Given the description of an element on the screen output the (x, y) to click on. 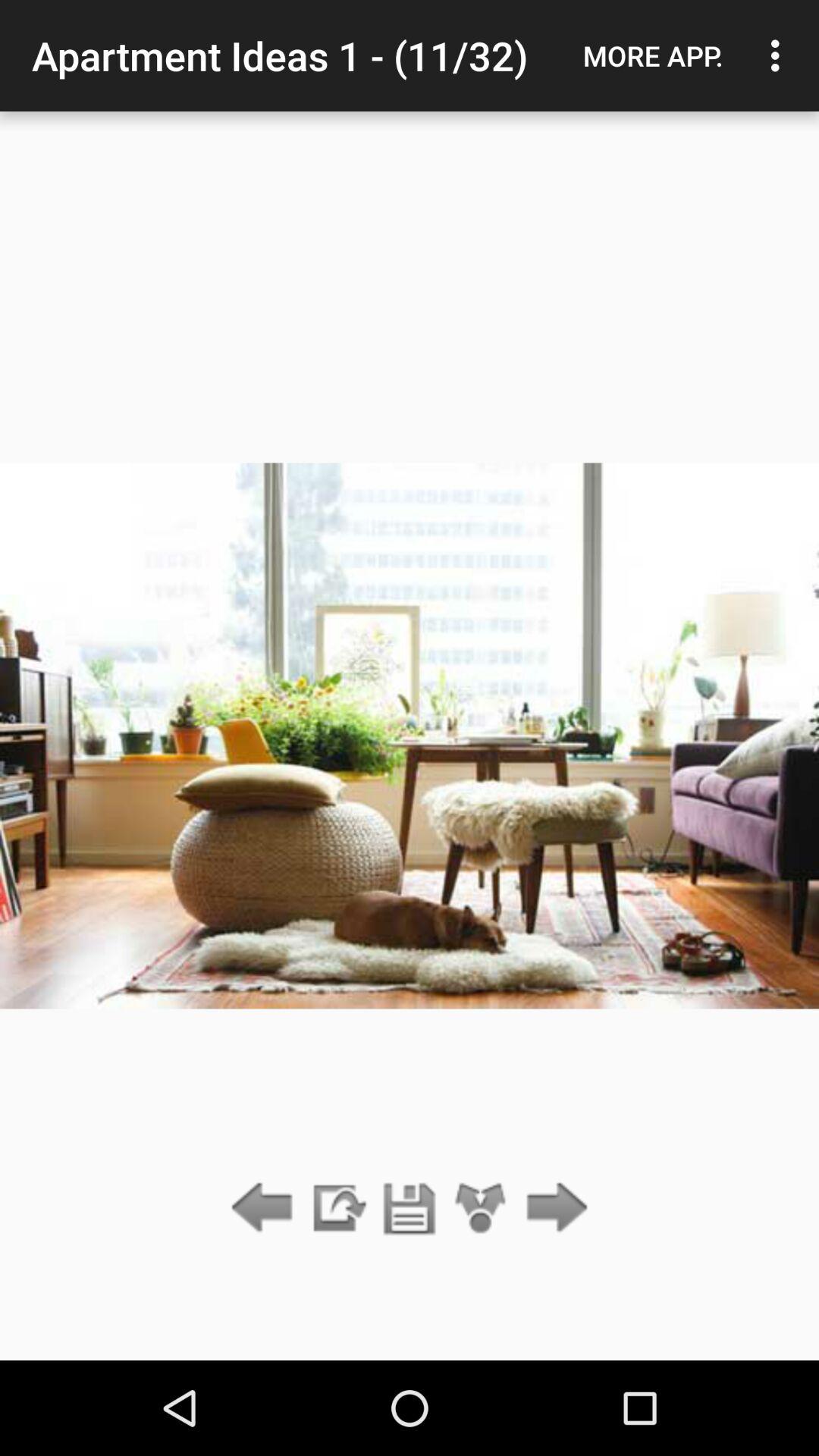
select item at the bottom right corner (552, 1209)
